Given the description of an element on the screen output the (x, y) to click on. 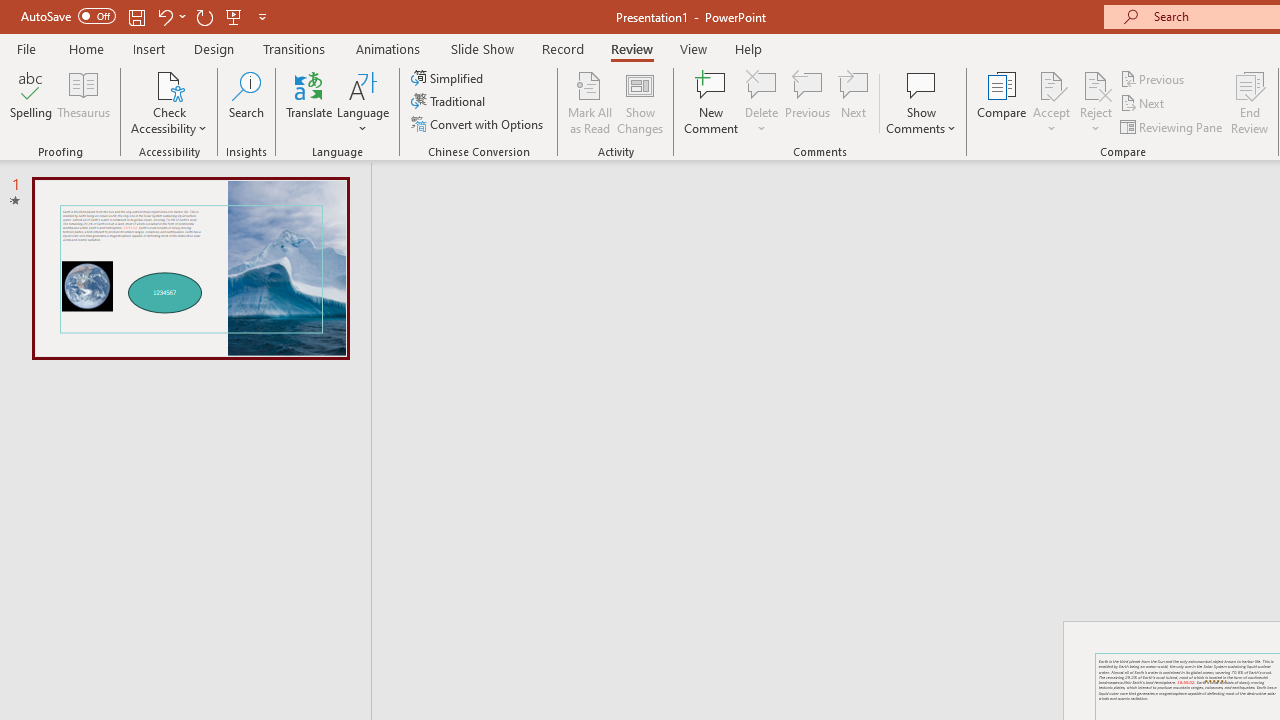
Check Accessibility (169, 84)
Next (1144, 103)
Previous (1153, 78)
Delete (762, 102)
Mark All as Read (589, 102)
New Comment (711, 102)
Reject (1096, 102)
